Given the description of an element on the screen output the (x, y) to click on. 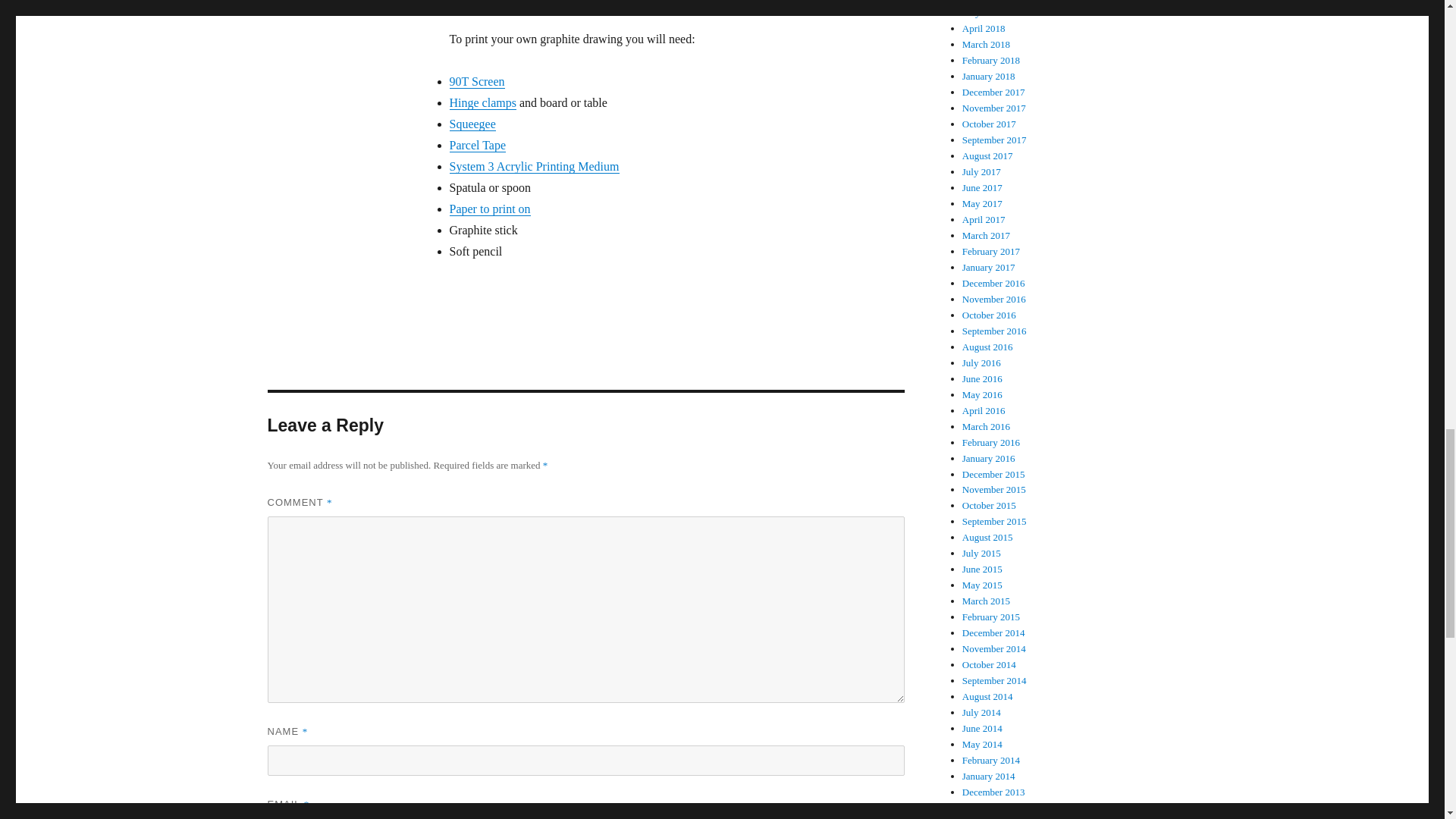
90T Screen (475, 81)
System 3 Acrylic Printing Medium (533, 165)
Parcel Tape (476, 144)
Squeegee (471, 123)
Hinge clamps (481, 102)
Paper to print on (488, 208)
